Given the description of an element on the screen output the (x, y) to click on. 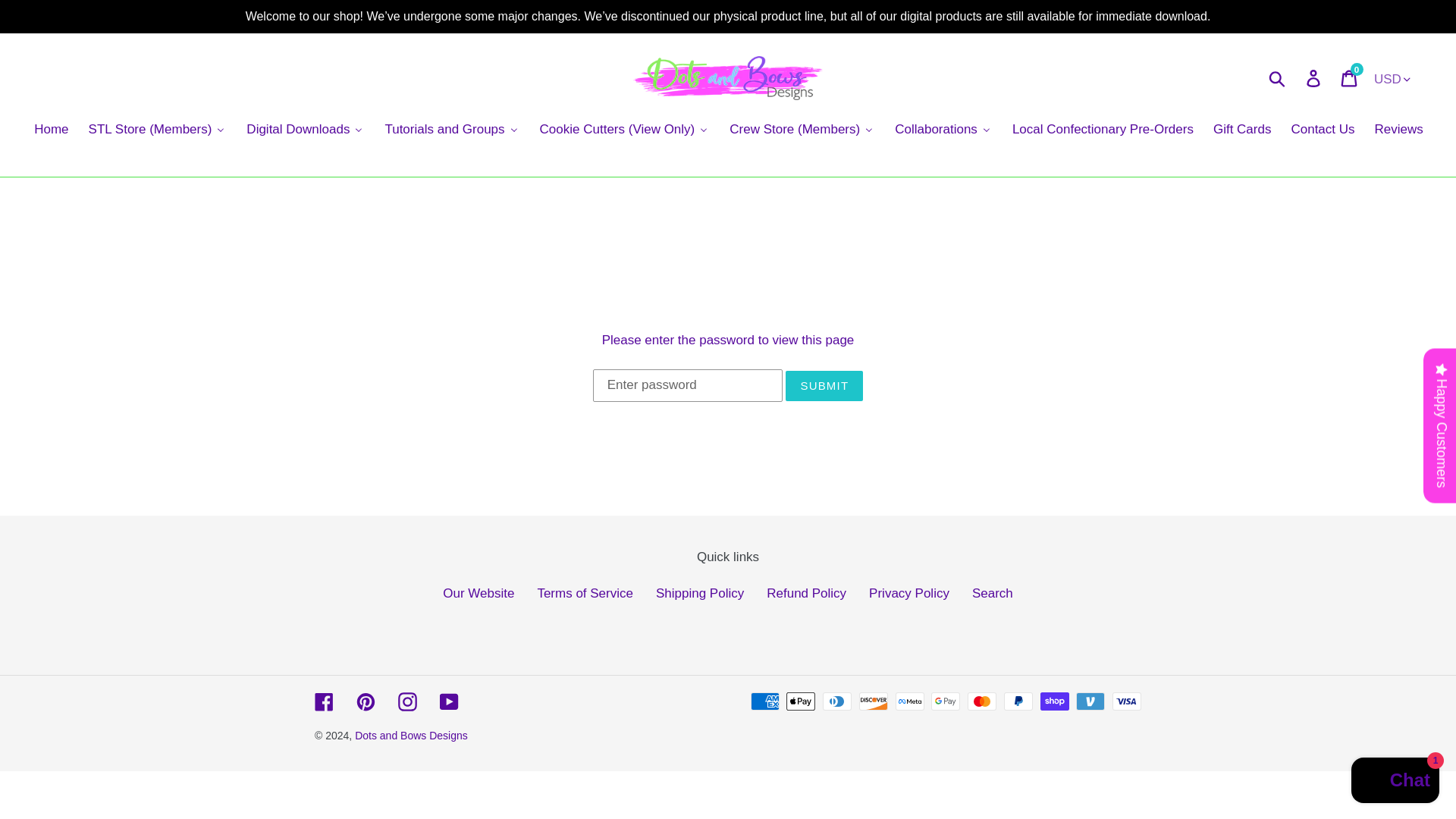
Submit (1278, 78)
Log in (1314, 77)
Submit (1350, 77)
